Given the description of an element on the screen output the (x, y) to click on. 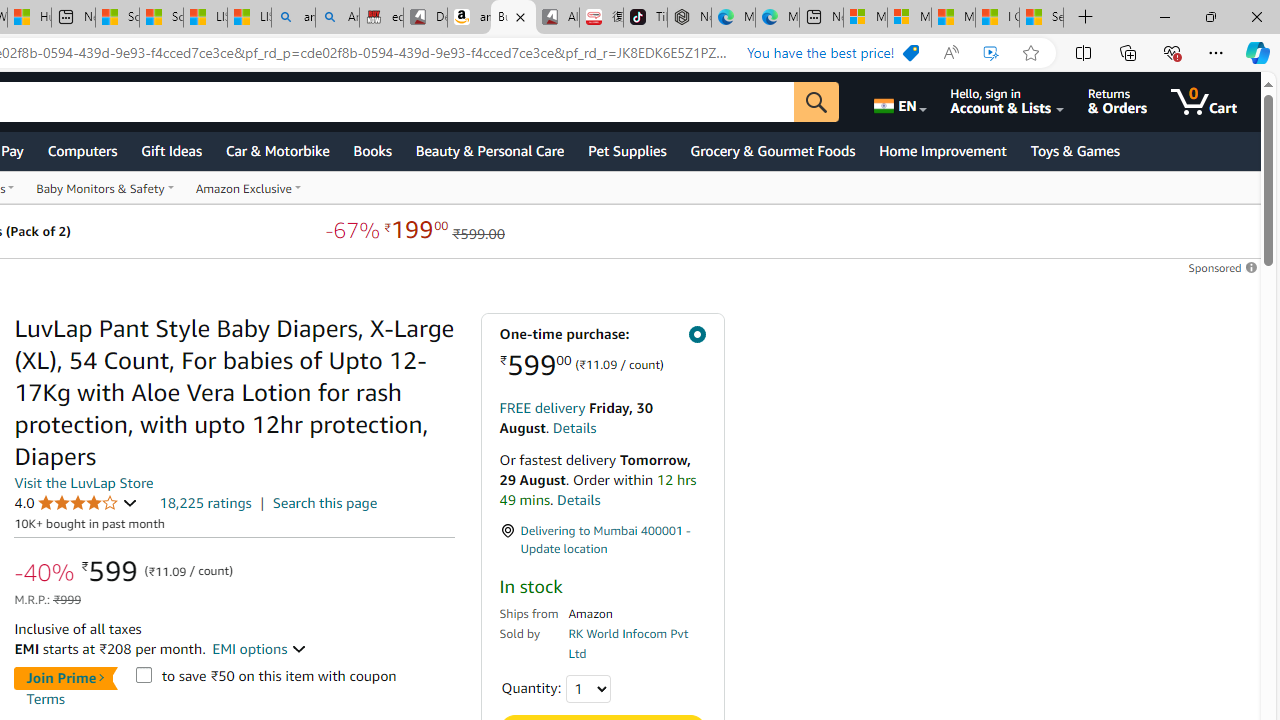
Returns & Orders (1117, 101)
EMI options  (259, 648)
TikTok (644, 17)
You have the best price! (910, 53)
Choose a language for shopping. (898, 101)
Grocery & Gourmet Foods (772, 150)
Toys & Games (1074, 150)
Home Improvement (942, 150)
Computers (82, 150)
